Given the description of an element on the screen output the (x, y) to click on. 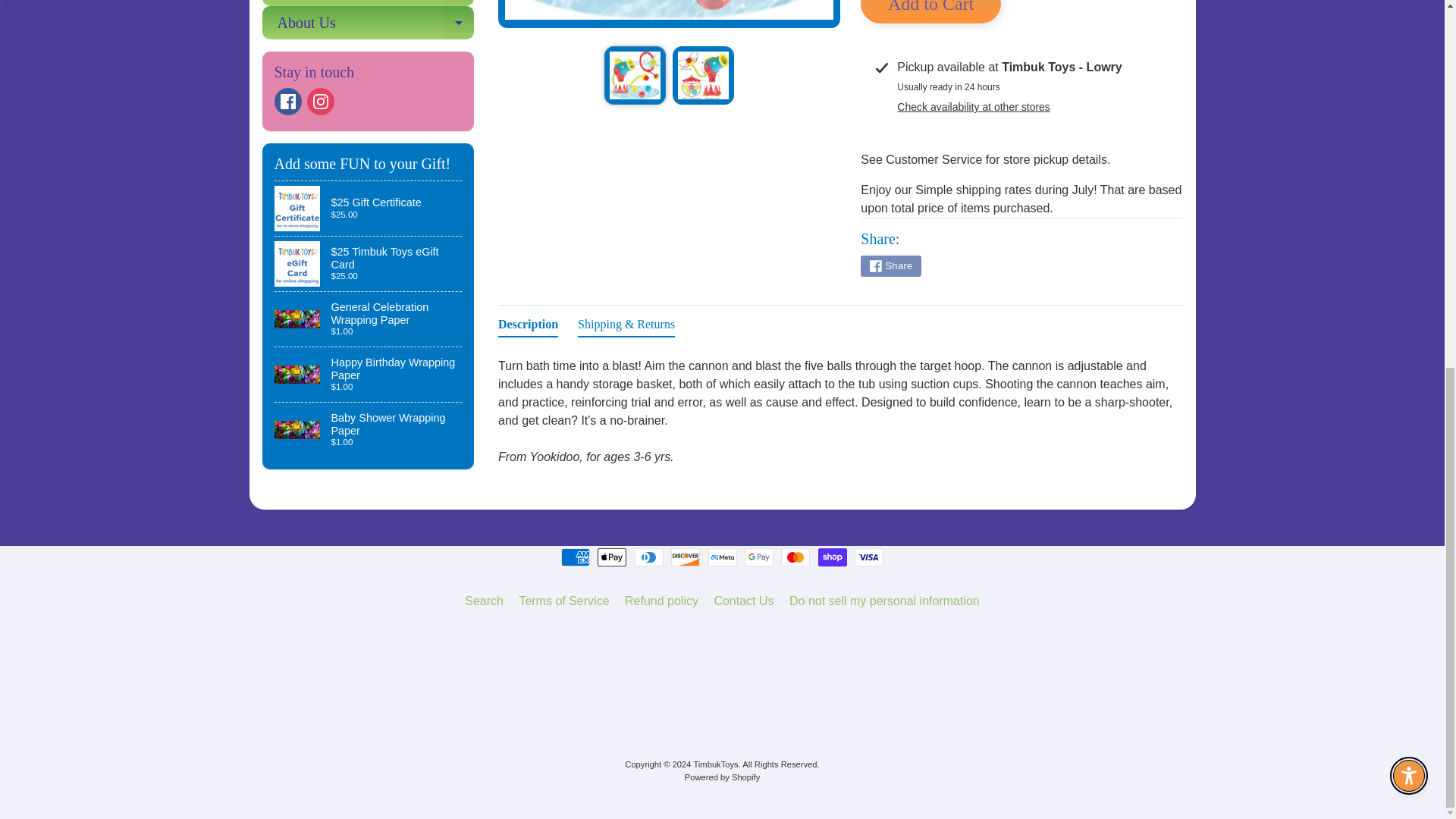
Diners Club (648, 556)
General Celebration Wrapping Paper (369, 318)
Instagram (320, 101)
Share on Facebook (890, 265)
Shop Pay (832, 556)
American Express (574, 556)
Visa (868, 556)
Baby Shower Wrapping Paper (369, 429)
Facebook (288, 101)
Discover (685, 556)
Ball Blaster Water Cannon (702, 74)
Mastercard (794, 556)
Meta Pay (721, 556)
Apple Pay (611, 556)
Google Pay (758, 556)
